Given the description of an element on the screen output the (x, y) to click on. 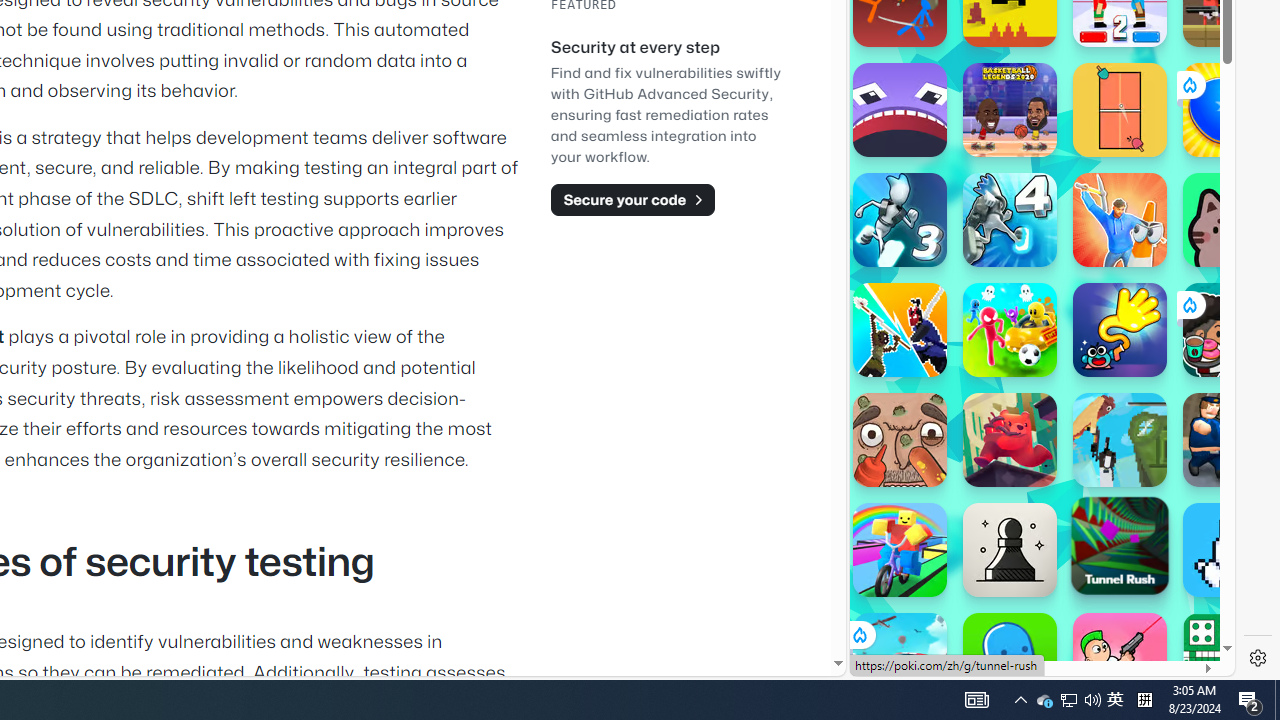
Poki (1034, 606)
Tunnel Rush Tunnel Rush (1119, 545)
Swingo Swingo (1119, 329)
Ping Pong Ping Pong (1119, 109)
SUBWAY SURFERS - Play Online for Free! | Poki (1034, 624)
Combat Reloaded Combat Reloaded poki.com (1092, 245)
Click to scroll right (1196, 247)
Crazy Cars (1217, 290)
Gobble (899, 109)
Combat Reloaded (1092, 200)
Poor Bunny (1229, 549)
Ping Pong (1119, 109)
Last Warriors Last Warriors (899, 329)
